Given the description of an element on the screen output the (x, y) to click on. 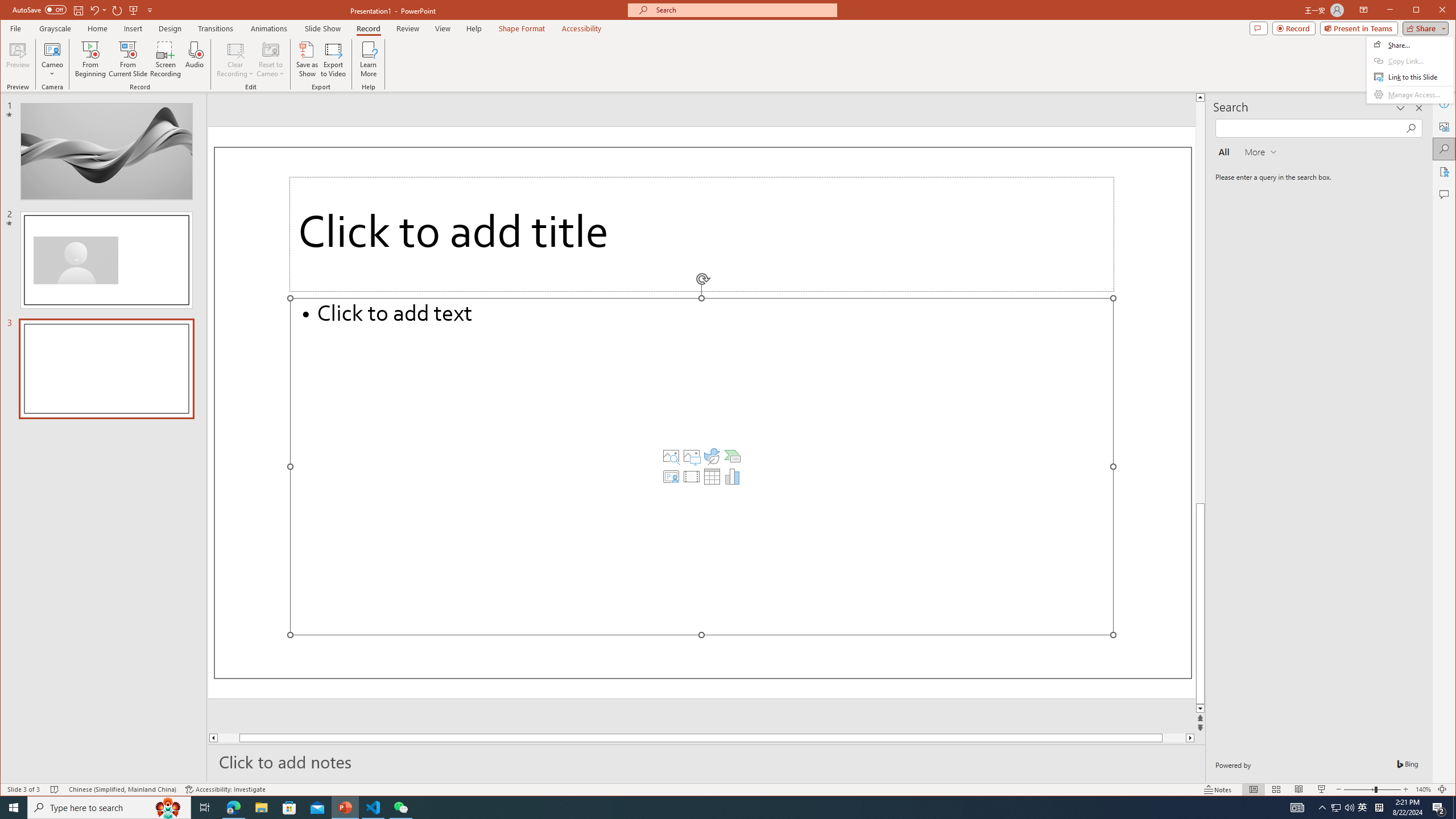
WeChat - 1 running window (400, 807)
Content Placeholder (701, 466)
